Given the description of an element on the screen output the (x, y) to click on. 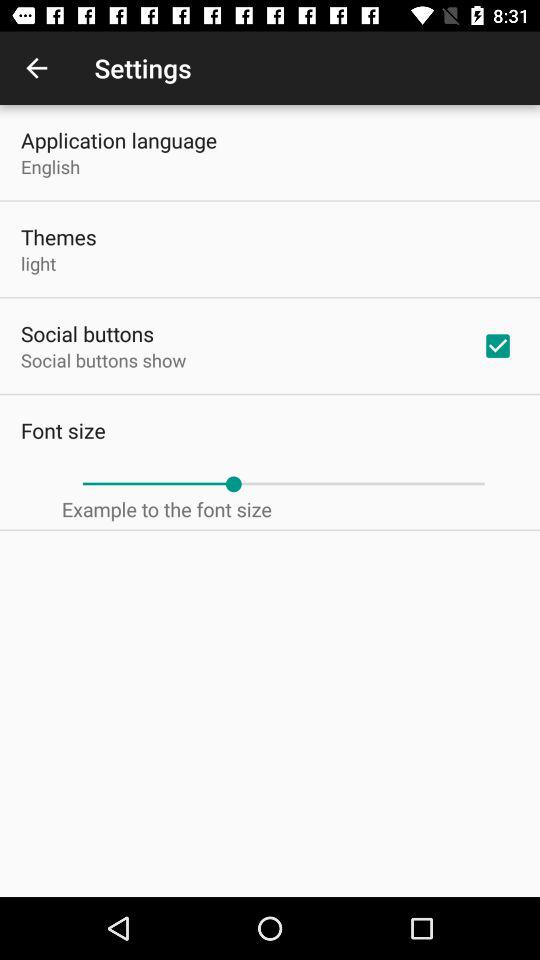
turn on the application language icon (119, 139)
